Given the description of an element on the screen output the (x, y) to click on. 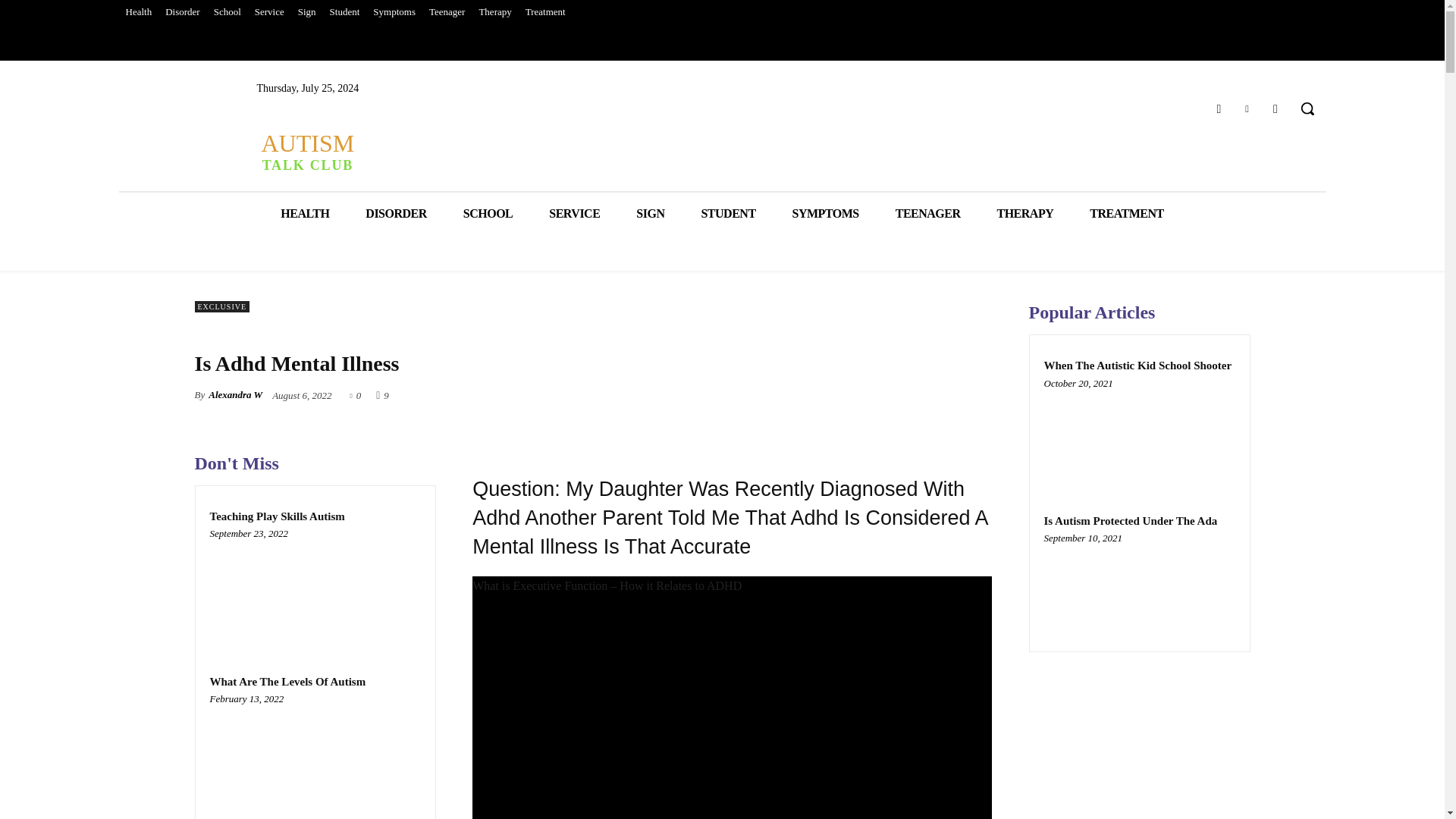
SCHOOL (488, 213)
Disorder (182, 12)
Twitter (1246, 108)
HEALTH (304, 213)
What Are The Levels Of Autism (314, 754)
Teenager (446, 12)
Youtube (1275, 108)
Symptoms (394, 12)
Health (137, 12)
Student (344, 12)
Facebook (1218, 108)
Therapy (494, 12)
What Are The Levels Of Autism (287, 681)
Service (269, 12)
Sign (307, 12)
